Given the description of an element on the screen output the (x, y) to click on. 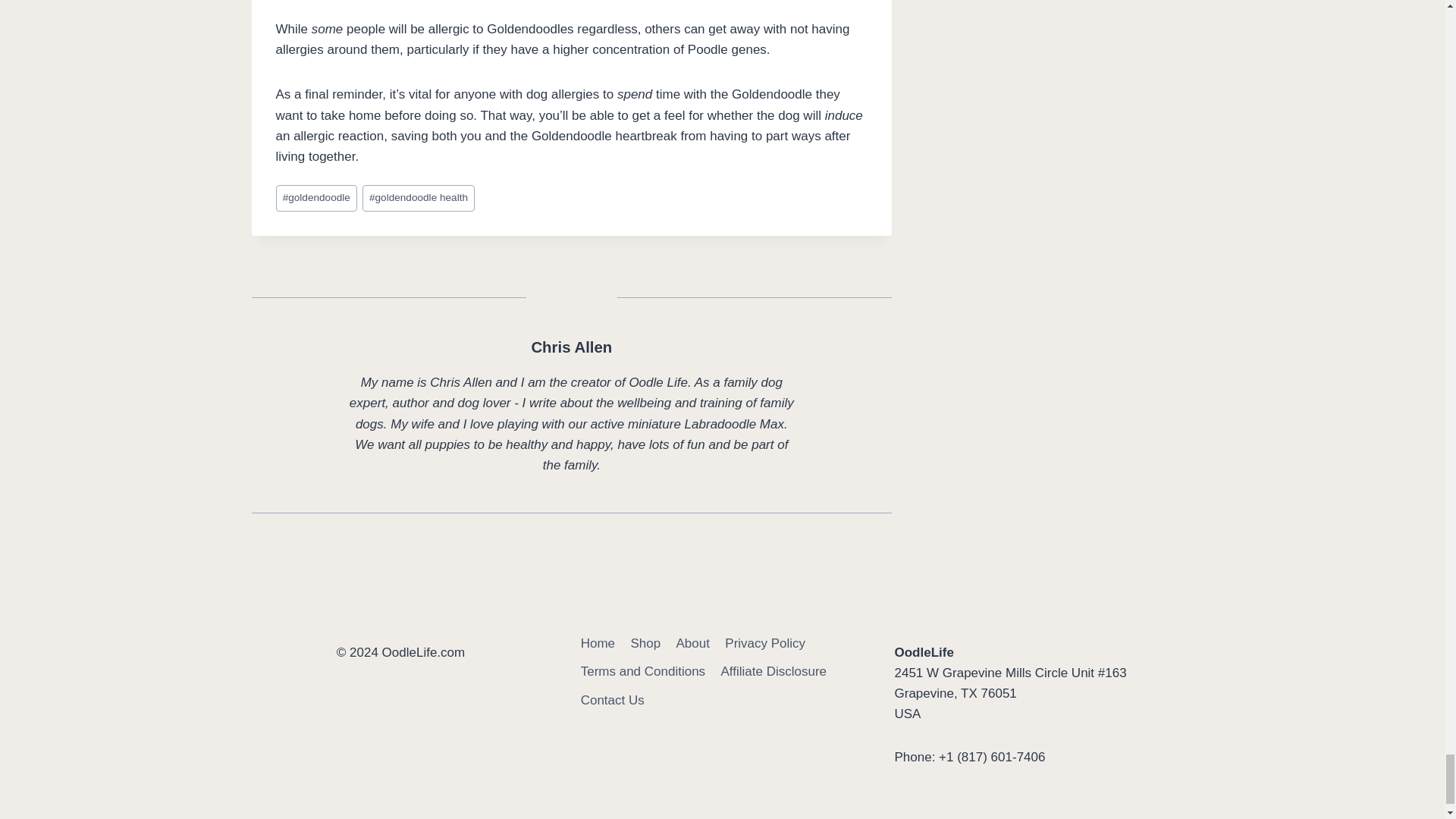
Posts by Chris Allen (571, 347)
goldendoodle (317, 198)
goldendoodle health (418, 198)
